Given the description of an element on the screen output the (x, y) to click on. 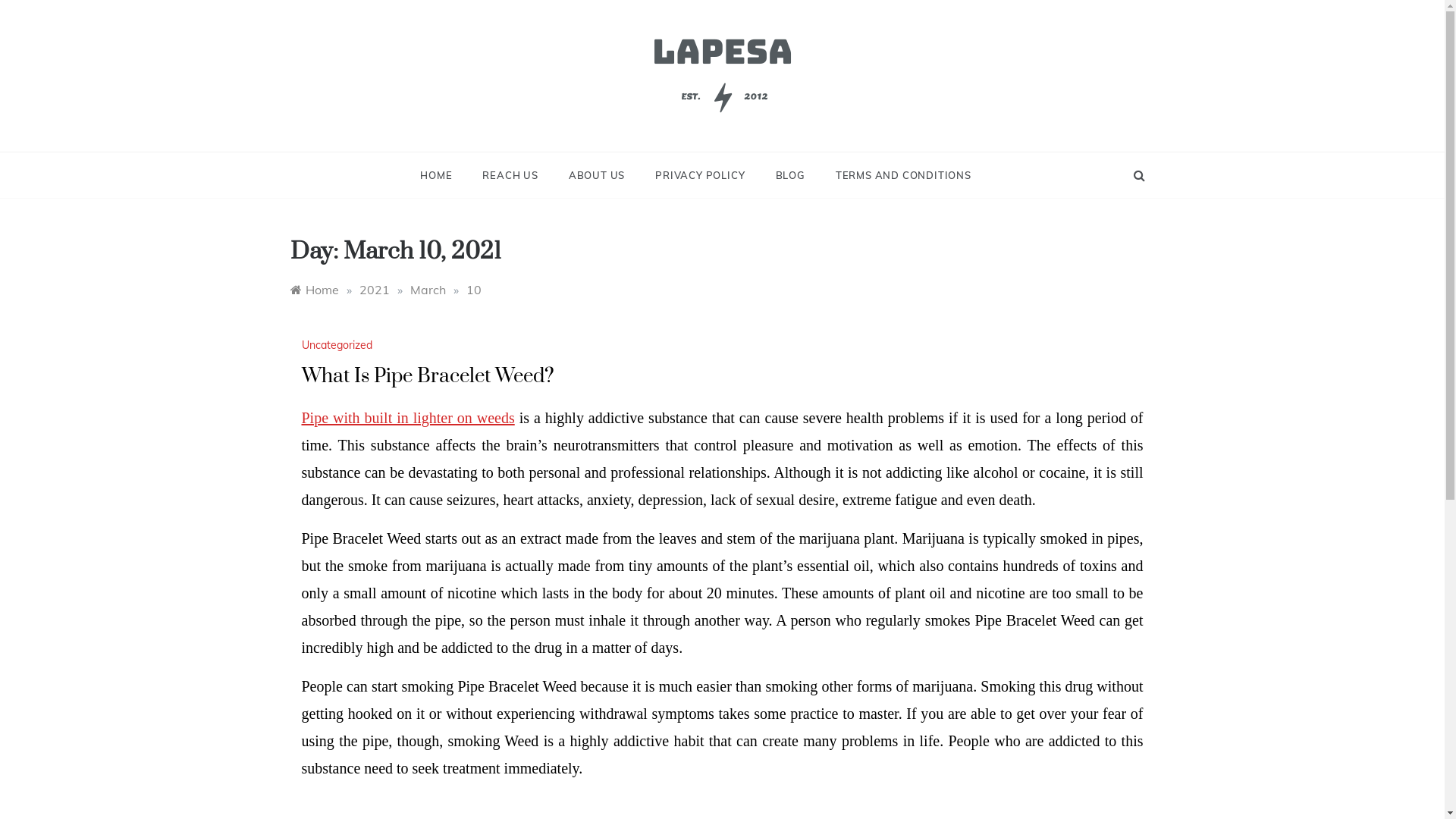
Lapesa Element type: text (532, 166)
TERMS AND CONDITIONS Element type: text (895, 174)
Uncategorized Element type: text (338, 344)
Pipe with built in lighter on weeds Element type: text (407, 417)
HOME Element type: text (443, 174)
March Element type: text (427, 289)
ABOUT US Element type: text (596, 174)
10 Element type: text (472, 289)
BLOG Element type: text (789, 174)
REACH US Element type: text (509, 174)
Home Element type: text (313, 289)
What Is Pipe Bracelet Weed? Element type: text (427, 376)
2021 Element type: text (374, 289)
PRIVACY POLICY Element type: text (699, 174)
